Given the description of an element on the screen output the (x, y) to click on. 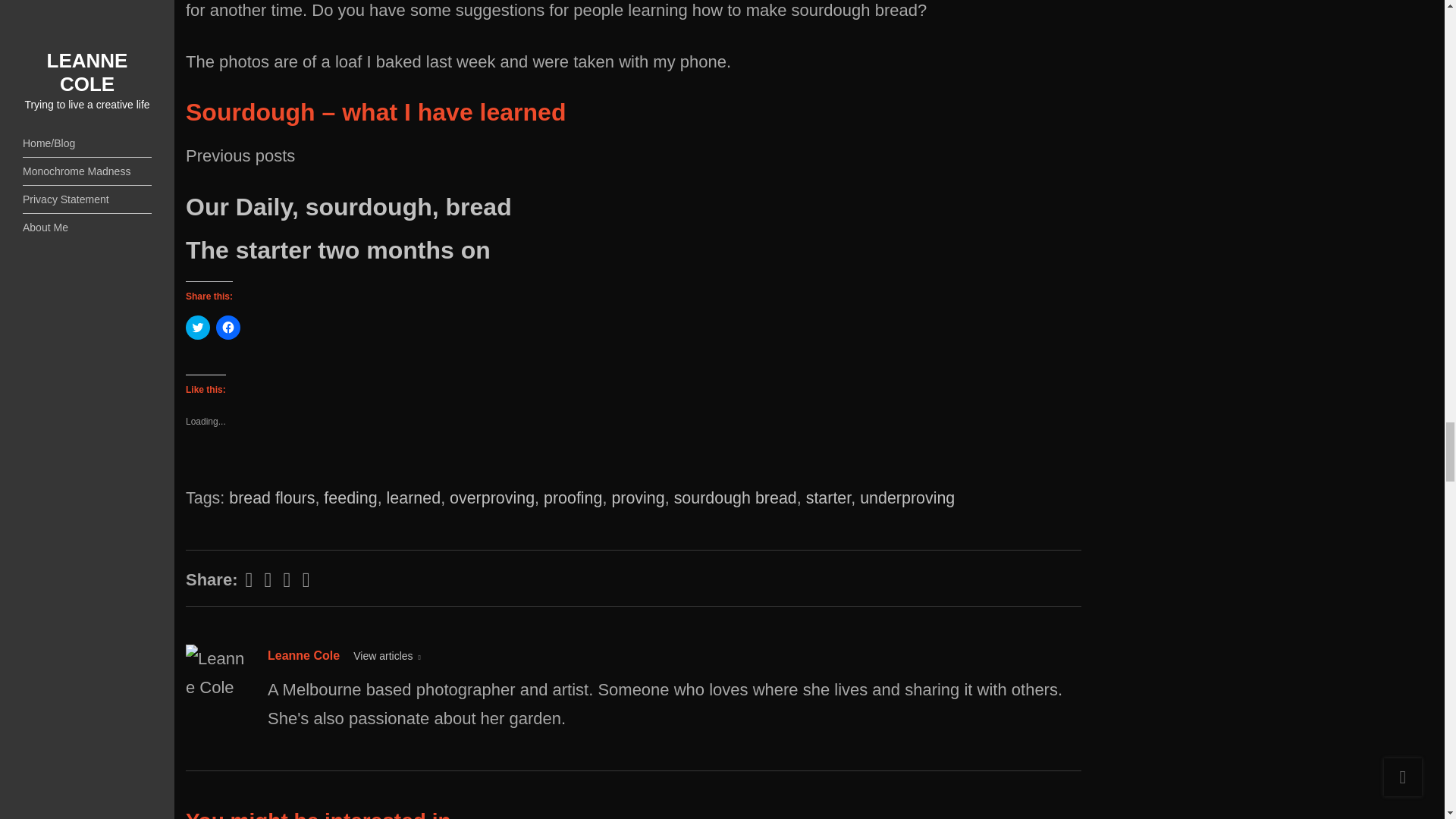
underproving (907, 497)
Click to share on Facebook (227, 327)
The starter two months on (338, 249)
overproving (491, 497)
bread flours (271, 497)
feeding (350, 497)
proofing (572, 497)
proving (637, 497)
starter (828, 497)
View articles (386, 655)
learned (414, 497)
Click to share on Twitter (197, 327)
sourdough bread (735, 497)
Our Daily, sourdough, bread (349, 206)
